Given the description of an element on the screen output the (x, y) to click on. 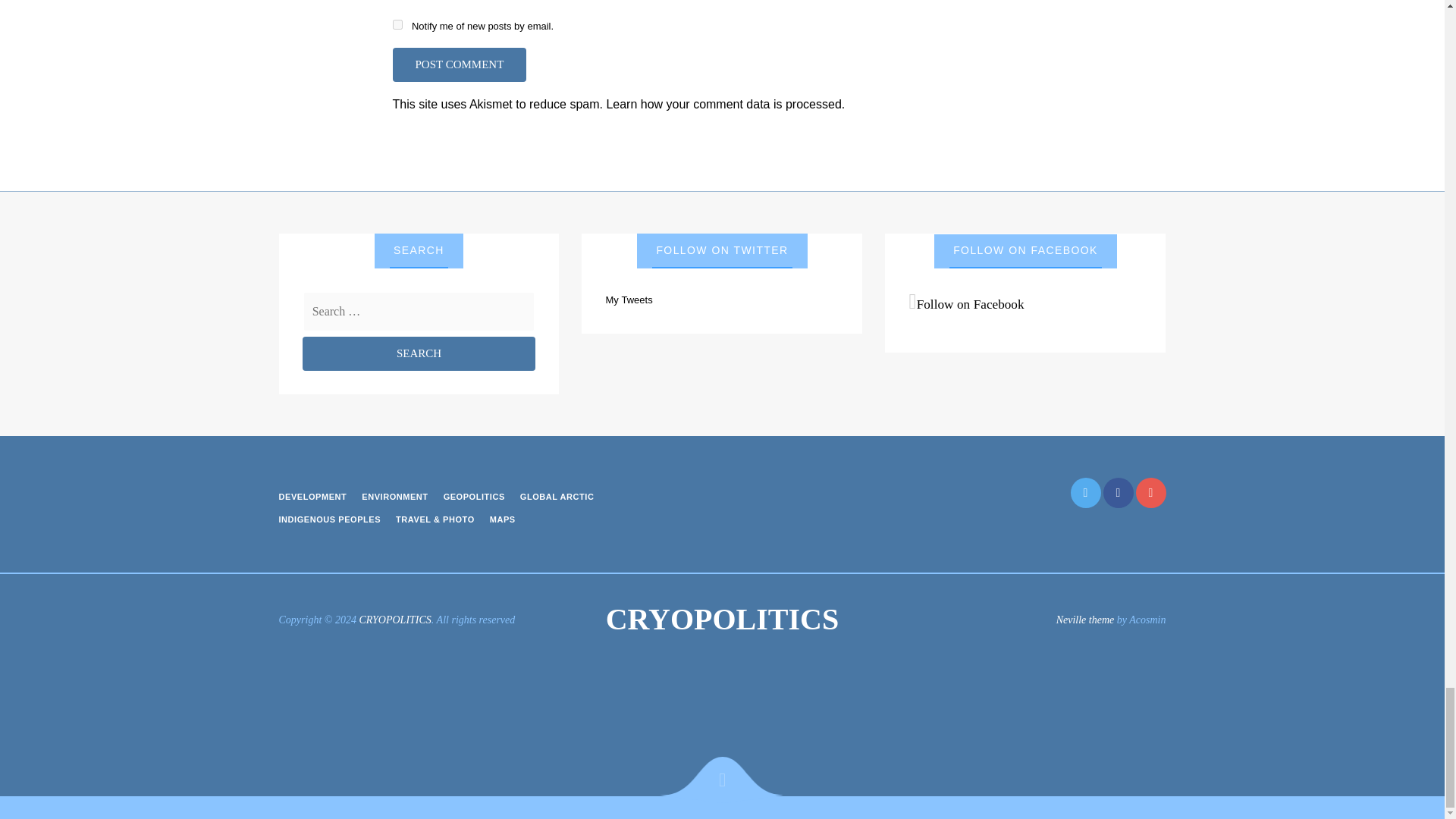
Search (418, 353)
subscribe (398, 24)
CRYOPOLITICS (722, 619)
Search (418, 353)
Post Comment (460, 64)
